Given the description of an element on the screen output the (x, y) to click on. 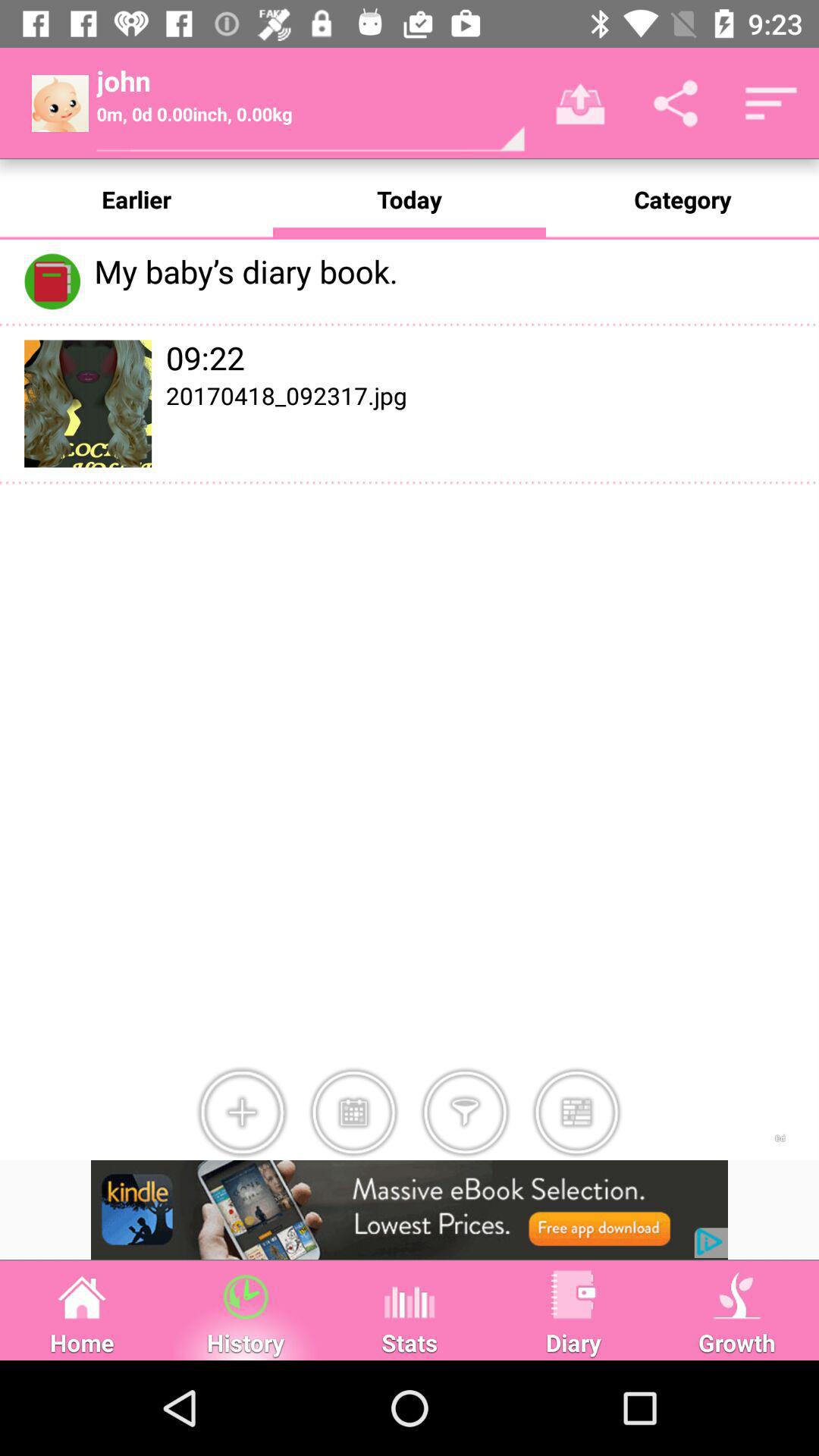
add image (242, 1112)
